Given the description of an element on the screen output the (x, y) to click on. 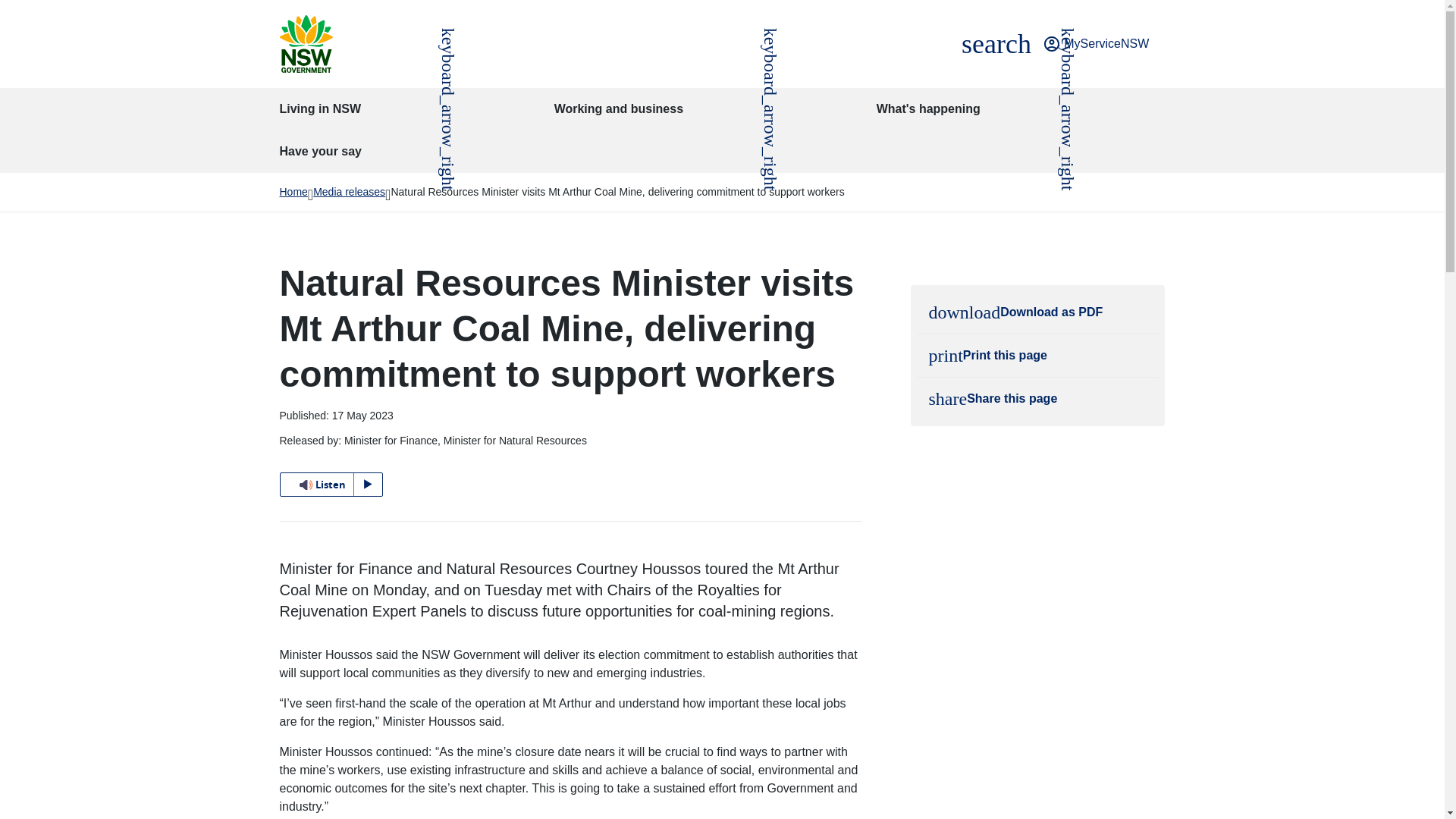
MyServiceNSW (996, 43)
Listen to this page using ReadSpeaker webReader (1096, 43)
